Given the description of an element on the screen output the (x, y) to click on. 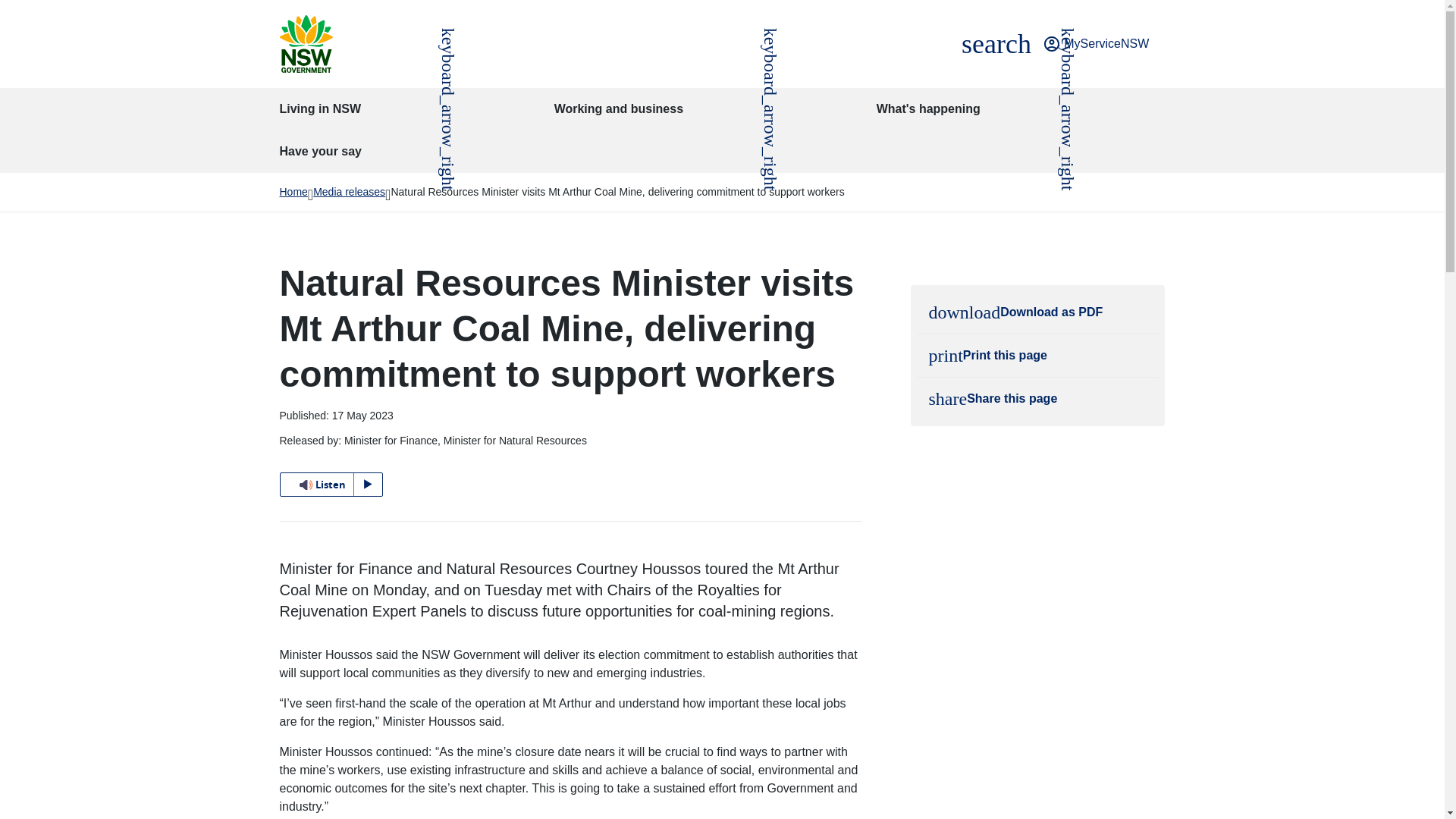
MyServiceNSW (996, 43)
Listen to this page using ReadSpeaker webReader (1096, 43)
